Given the description of an element on the screen output the (x, y) to click on. 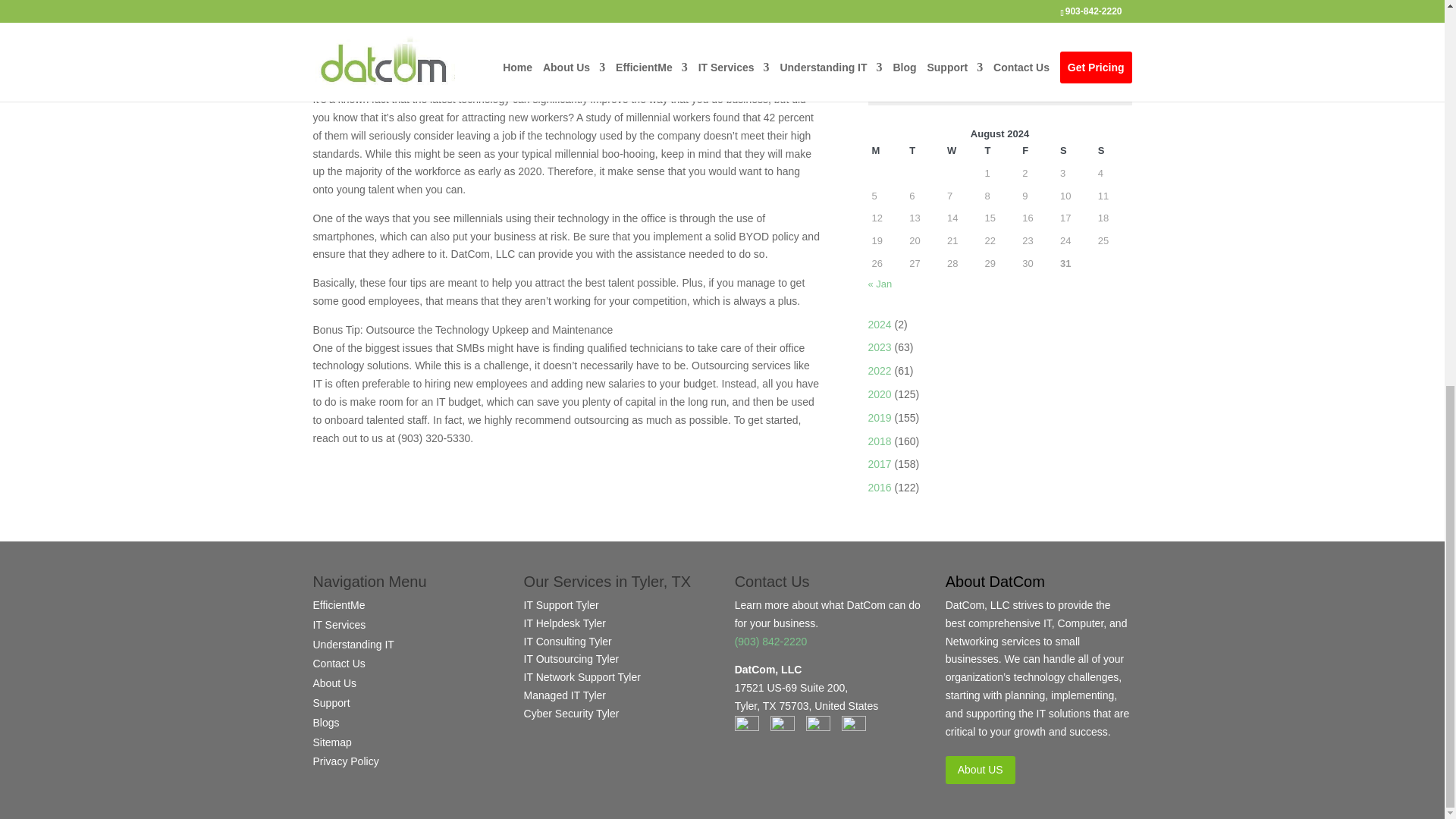
Wednesday (962, 150)
Thursday (1000, 150)
Tuesday (924, 150)
Monday (886, 150)
Sunday (1113, 150)
Friday (1037, 150)
Saturday (1075, 150)
